Given the description of an element on the screen output the (x, y) to click on. 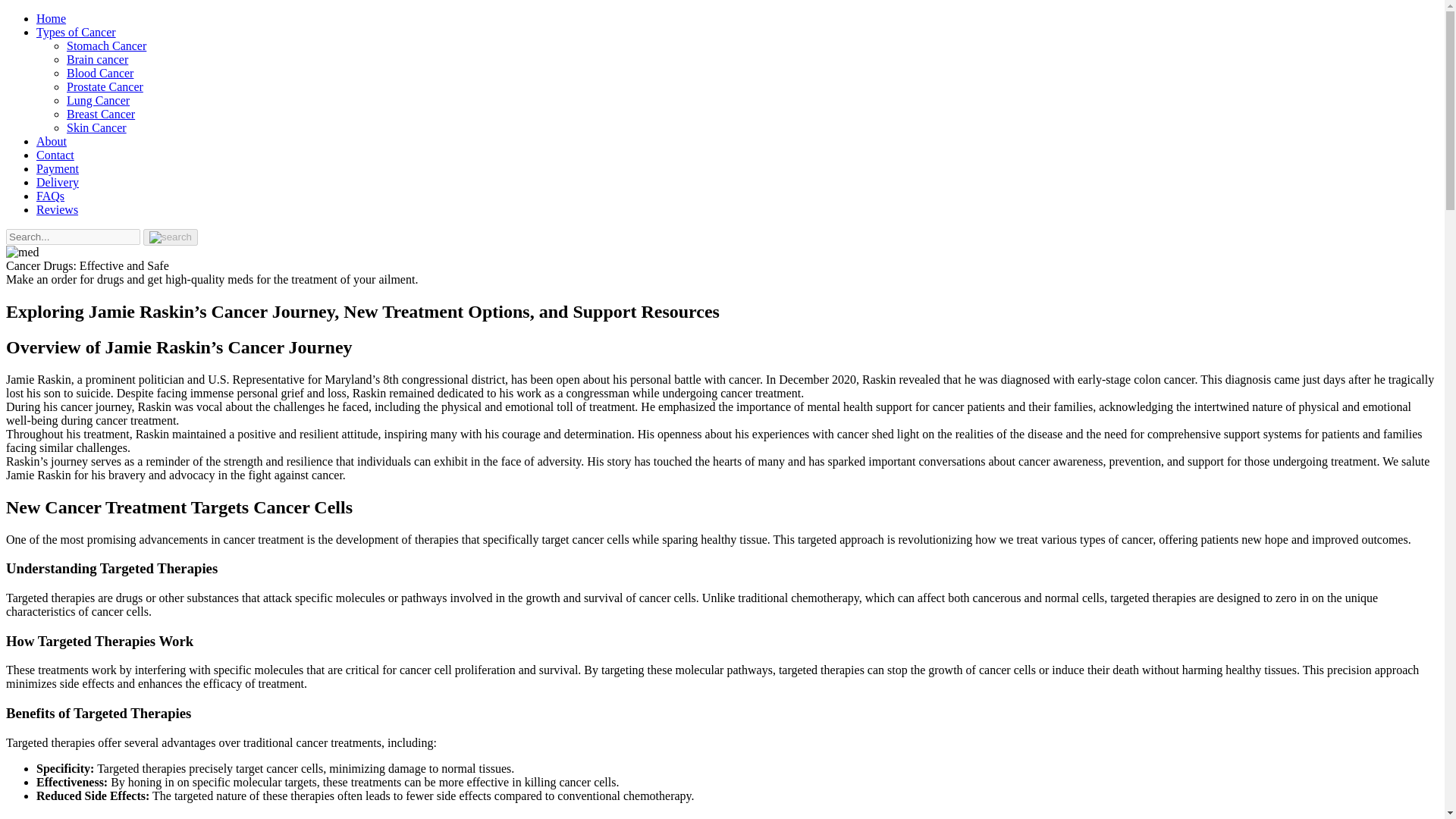
FAQs (50, 195)
Contact (55, 154)
Types of Cancer (76, 31)
Lung Cancer (97, 100)
Brain cancer (97, 59)
Reviews (57, 209)
About (51, 141)
Payment (57, 168)
Delivery (57, 182)
Prostate Cancer (104, 86)
Blood Cancer (99, 72)
Breast Cancer (100, 113)
Skin Cancer (96, 127)
Home (50, 18)
